Given the description of an element on the screen output the (x, y) to click on. 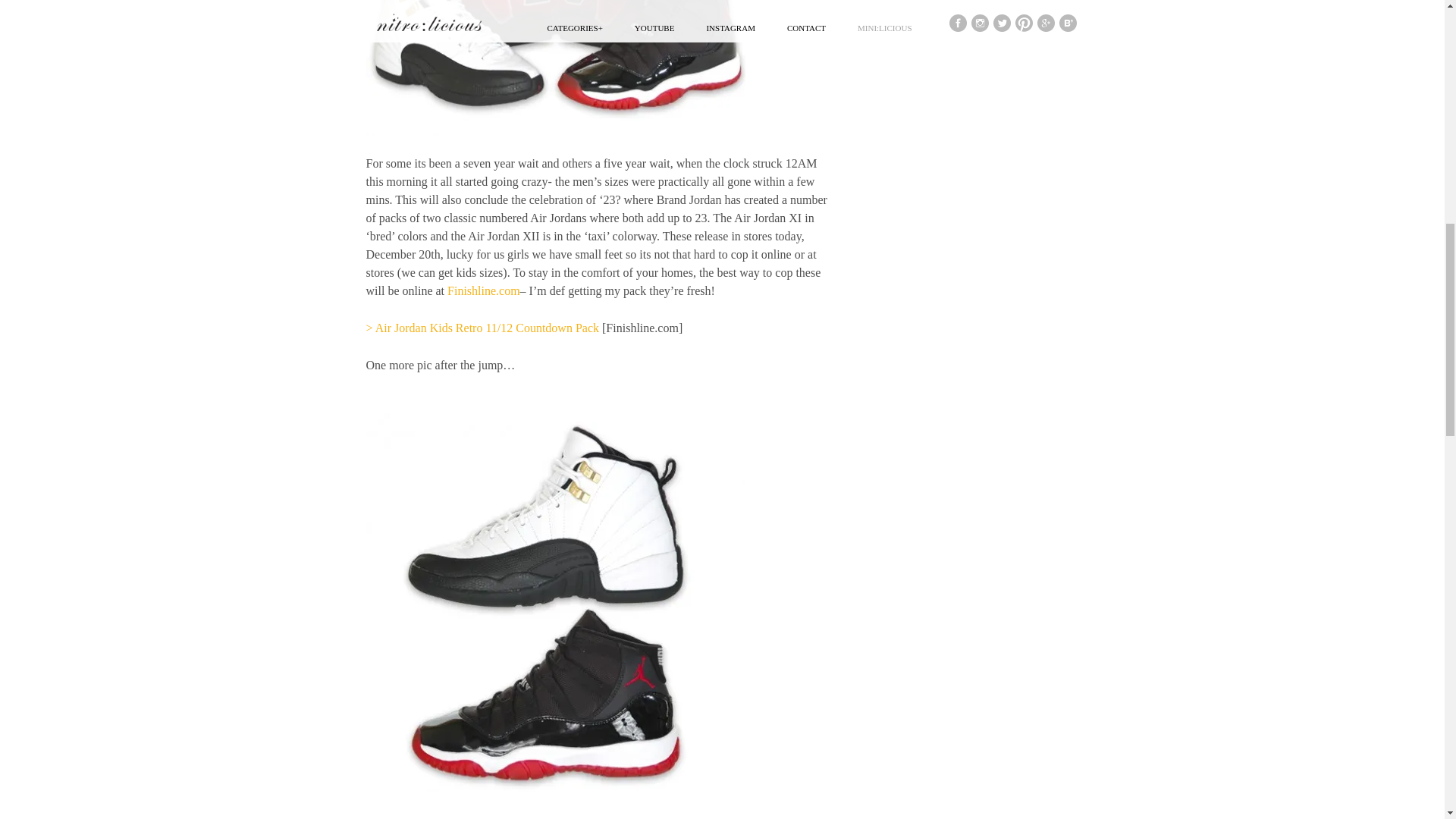
Finishline.com (482, 290)
